Given the description of an element on the screen output the (x, y) to click on. 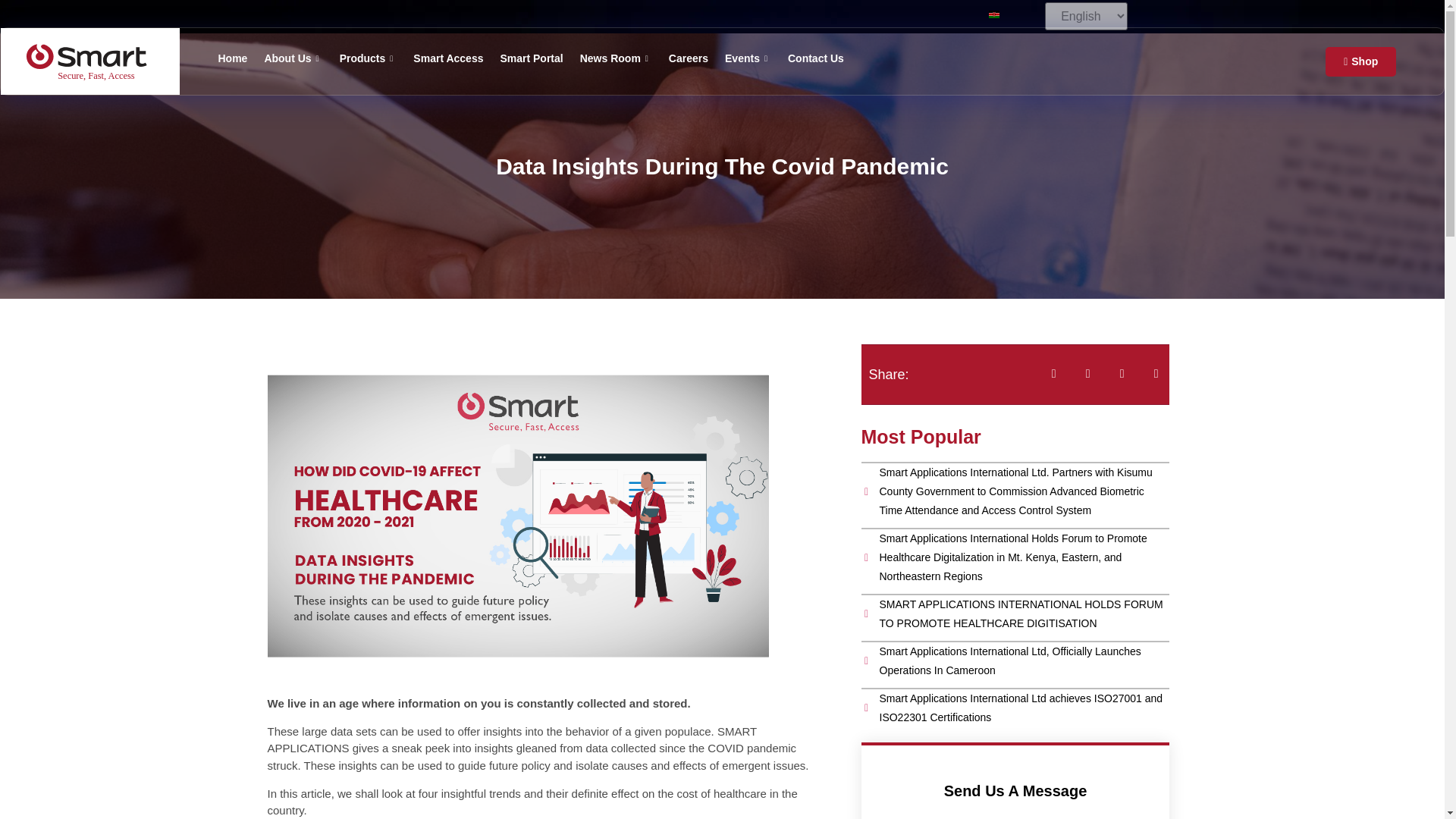
About Us (301, 57)
Products (376, 57)
